Given the description of an element on the screen output the (x, y) to click on. 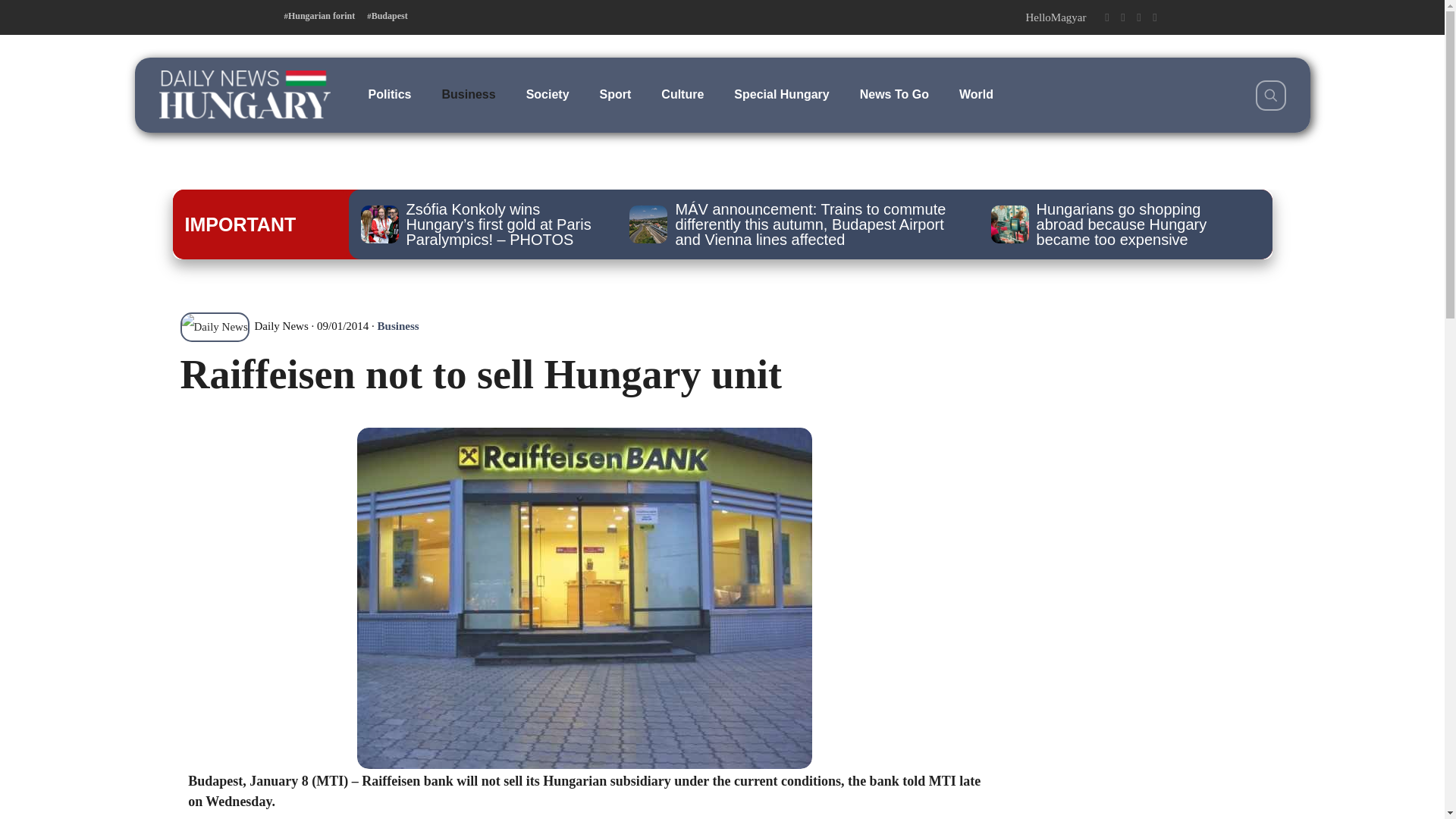
Politics (389, 94)
Hungarian forint (319, 15)
HelloMagyar (1055, 17)
Business (398, 326)
Instagram (1138, 17)
Budapest (386, 15)
Business (468, 94)
Daily News (244, 326)
Special Hungary (781, 94)
